Given the description of an element on the screen output the (x, y) to click on. 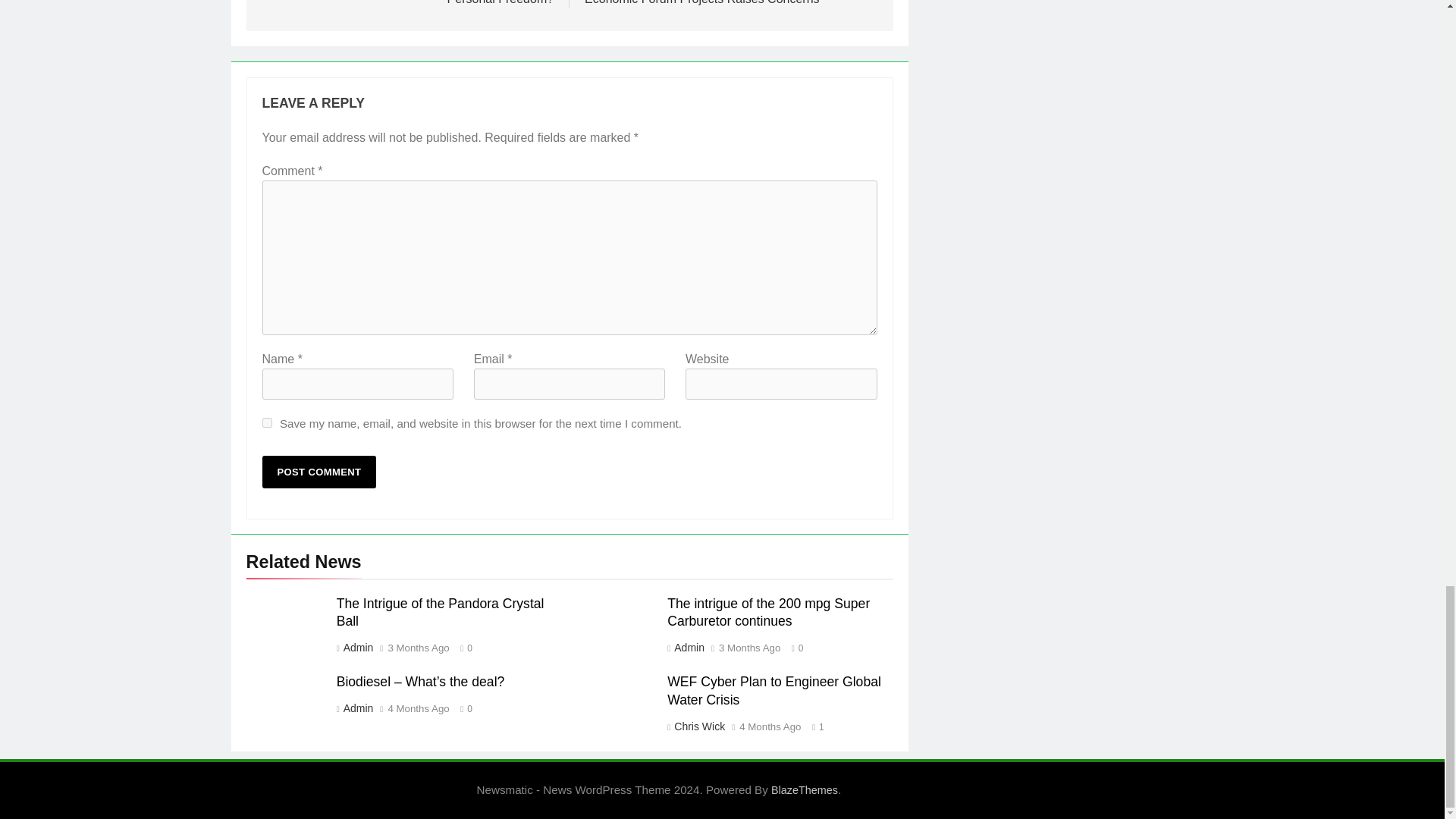
Post Comment (319, 471)
yes (267, 422)
